Given the description of an element on the screen output the (x, y) to click on. 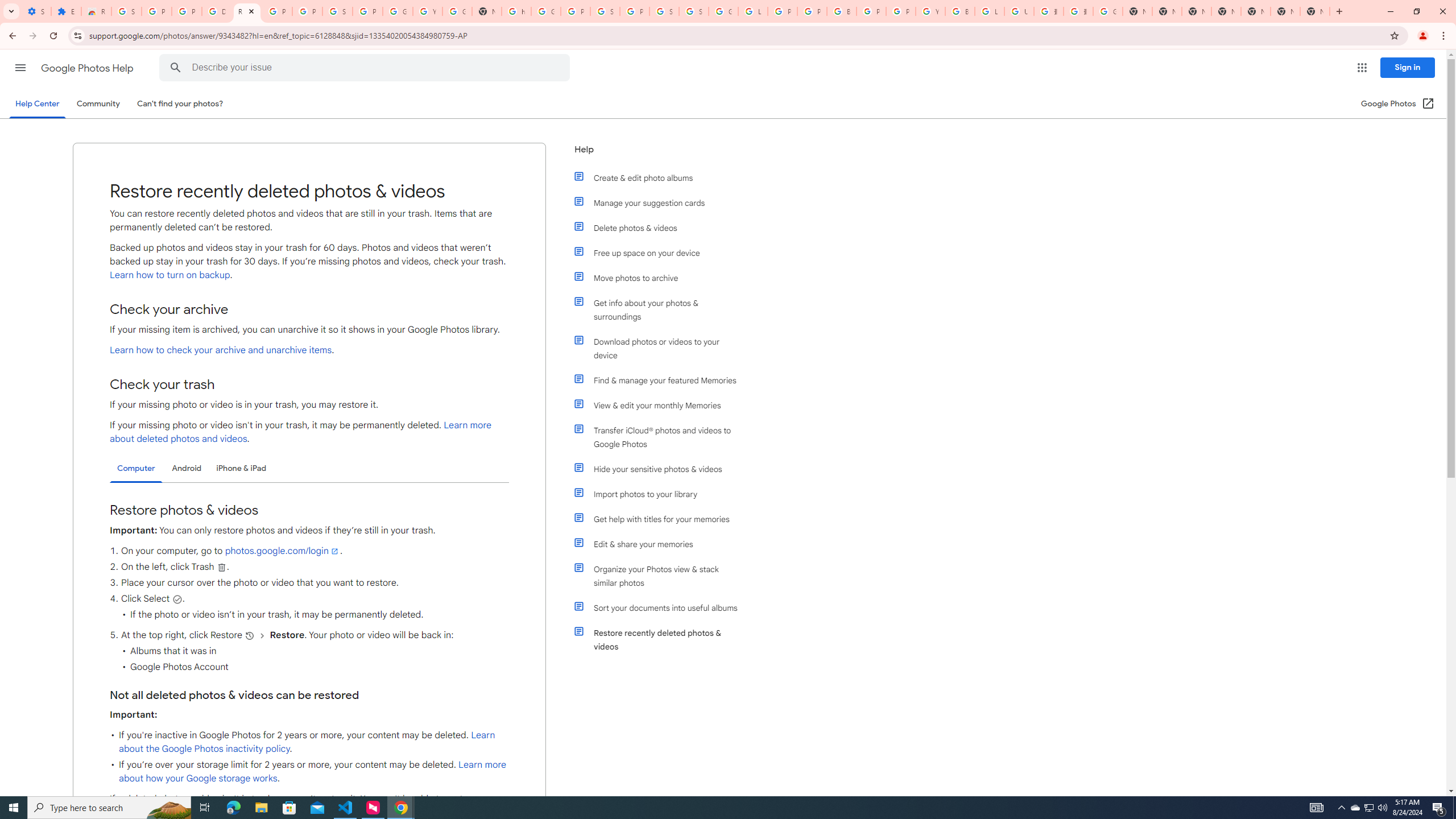
Delete photos & videos (661, 227)
Restore recently deleted photos & videos (661, 639)
Sign in - Google Accounts (664, 11)
photos.google.com/login (282, 550)
iPhone & iPad (240, 468)
Android (186, 468)
Main menu (20, 67)
Hide your sensitive photos & videos (661, 469)
